Given the description of an element on the screen output the (x, y) to click on. 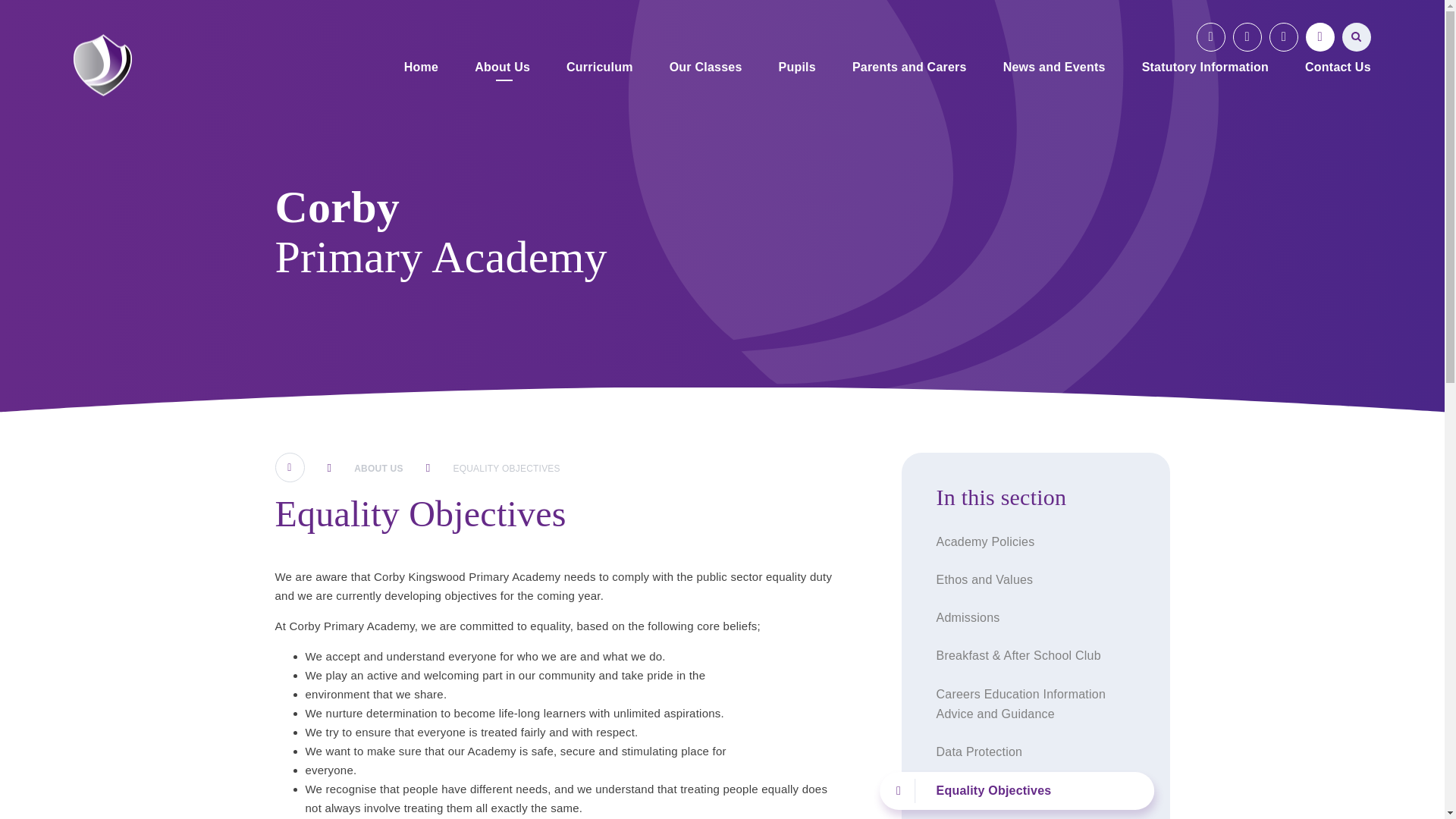
Twitter (1247, 36)
Facebook (1210, 36)
About Us (501, 67)
Search... (1356, 36)
Corby Primary Academy  (103, 64)
Search... (1356, 36)
Home (420, 67)
search... (1356, 36)
